Given the description of an element on the screen output the (x, y) to click on. 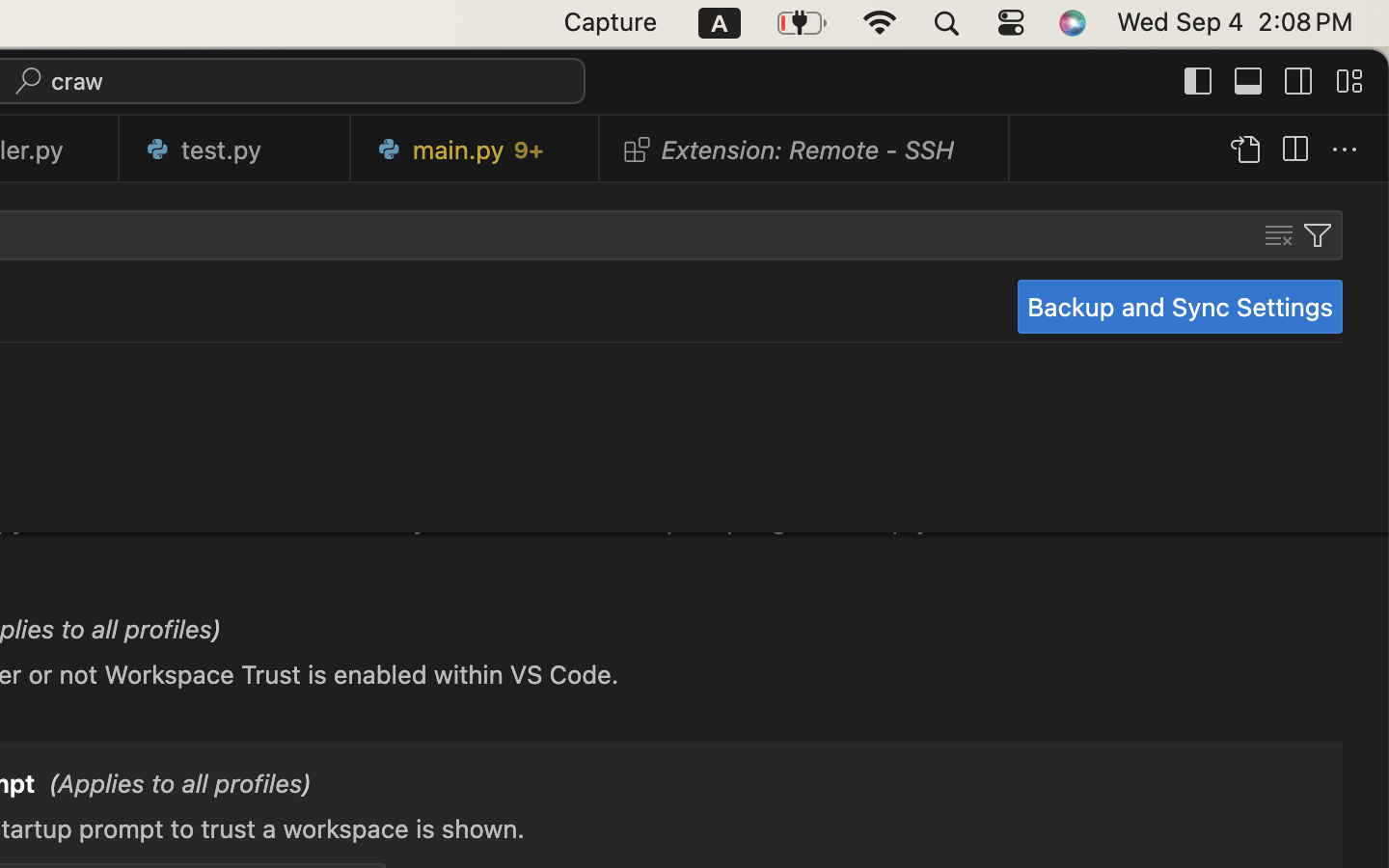
 Element type: AXButton (1349, 80)
Applies to all profiles Element type: AXGroup (179, 785)
 Element type: AXButton (1278, 235)
 Element type: AXButton (1244, 150)
 Element type: AXCheckBox (1299, 80)
